Given the description of an element on the screen output the (x, y) to click on. 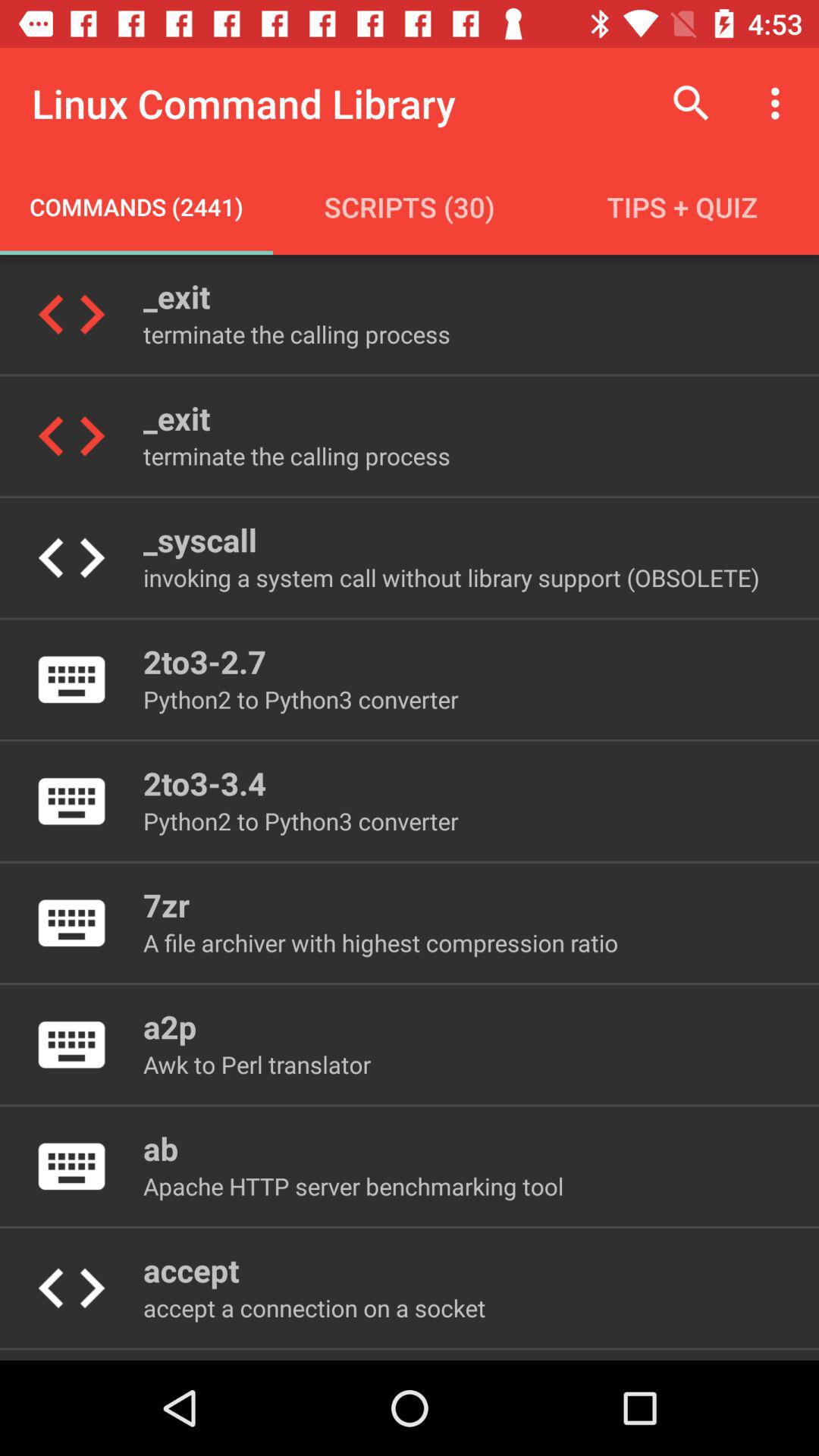
select the item above 2to3-2.7 icon (451, 577)
